Given the description of an element on the screen output the (x, y) to click on. 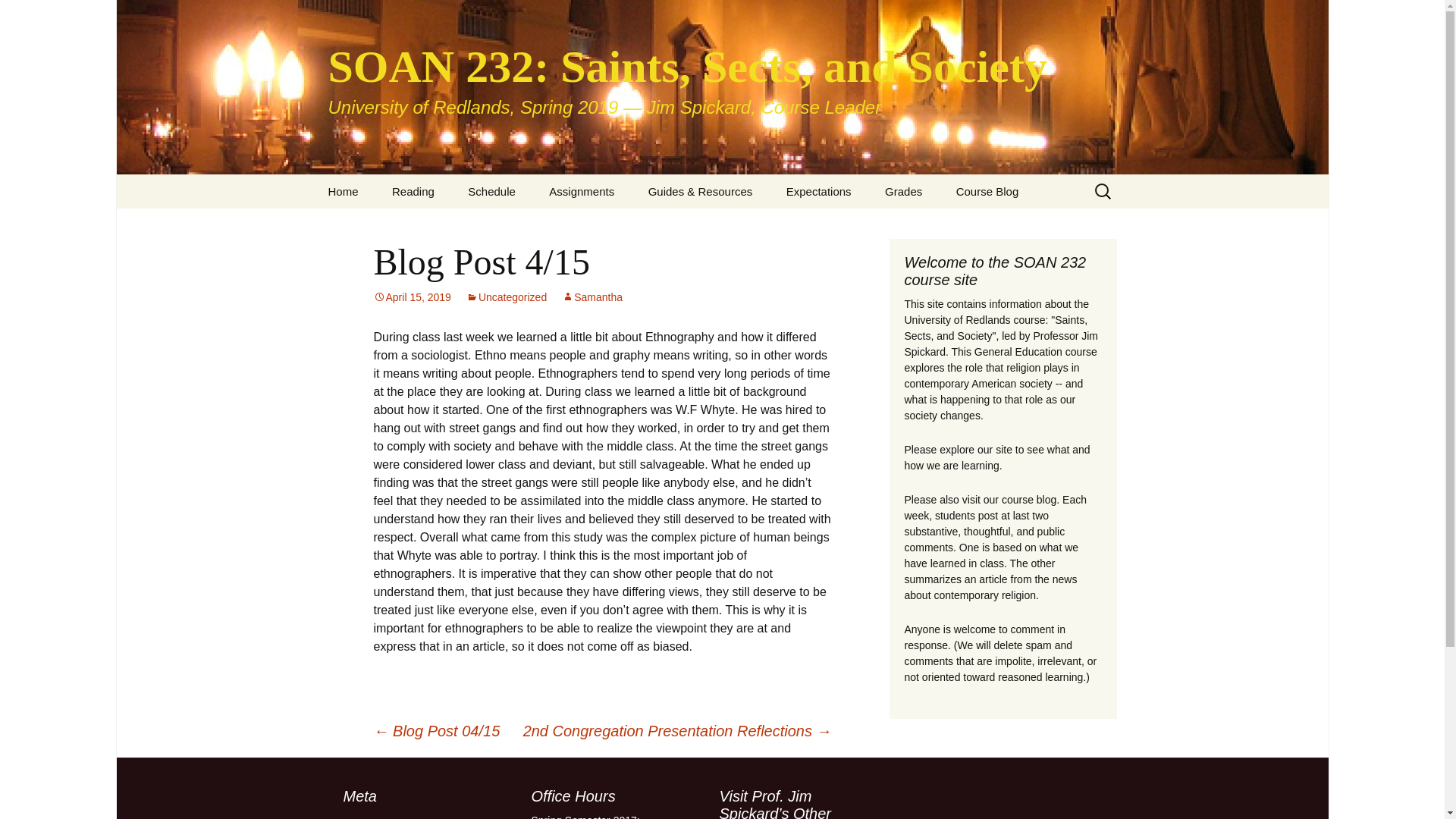
Assignments (581, 191)
Search (18, 15)
Grades (903, 191)
Books (452, 225)
How I Grade Course Participation (945, 230)
Expectations (818, 191)
April 15, 2019 (410, 297)
Reading (413, 191)
Uncategorized (506, 297)
About Blog Posts (708, 225)
Samantha (592, 297)
Schedule (491, 191)
View all posts by Samantha (592, 297)
Home (342, 191)
